Given the description of an element on the screen output the (x, y) to click on. 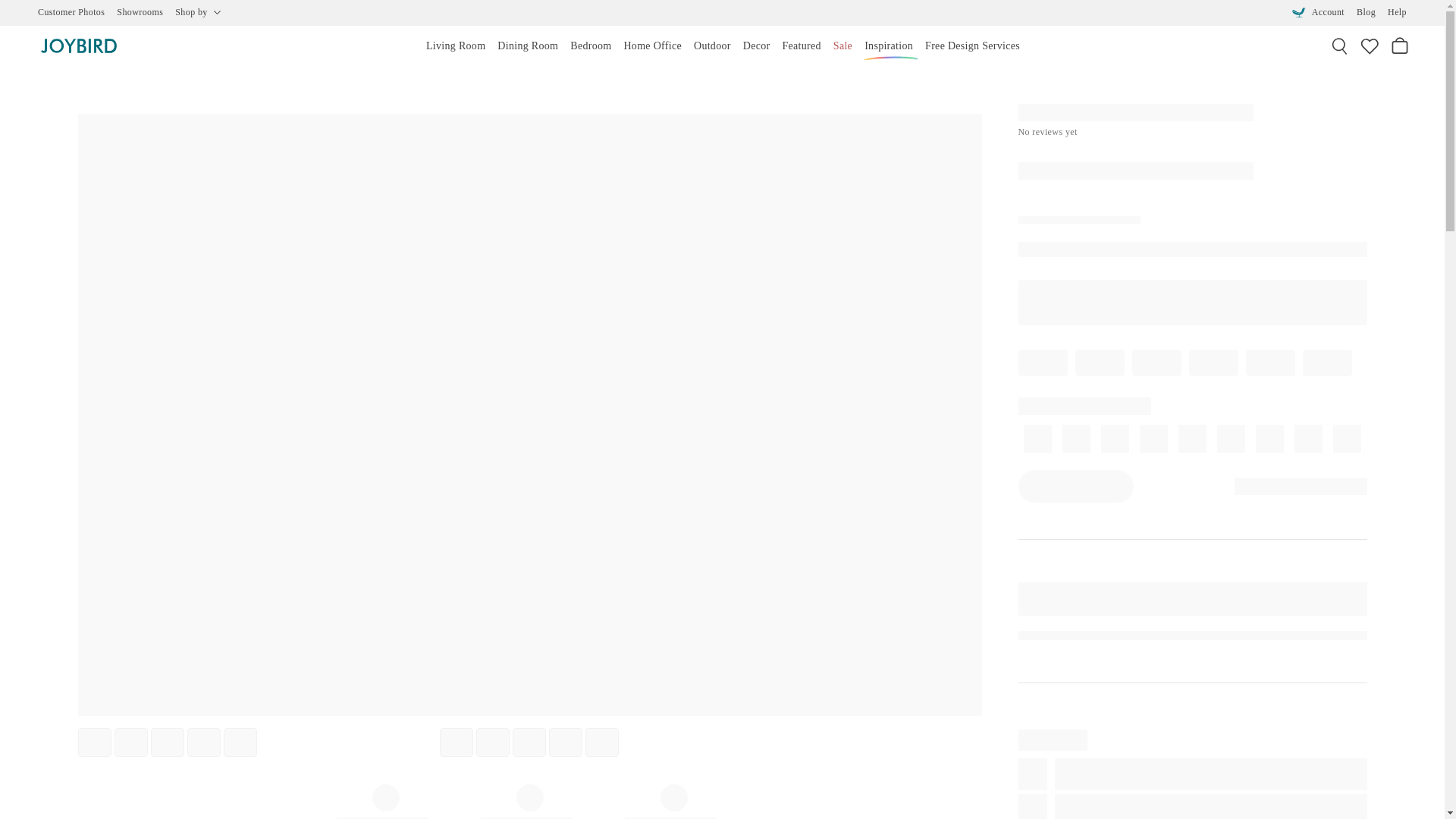
Home Office (652, 46)
Showrooms (139, 12)
Decor (756, 46)
Inspiration (888, 46)
Featured (801, 46)
Living Room (456, 46)
Wishlist (1369, 45)
Blog (1366, 12)
Search (1339, 45)
Bag (1399, 45)
Shop by (196, 12)
Bag (1399, 45)
Bedroom (590, 46)
Help (1396, 12)
Customer Photos (71, 12)
